Given the description of an element on the screen output the (x, y) to click on. 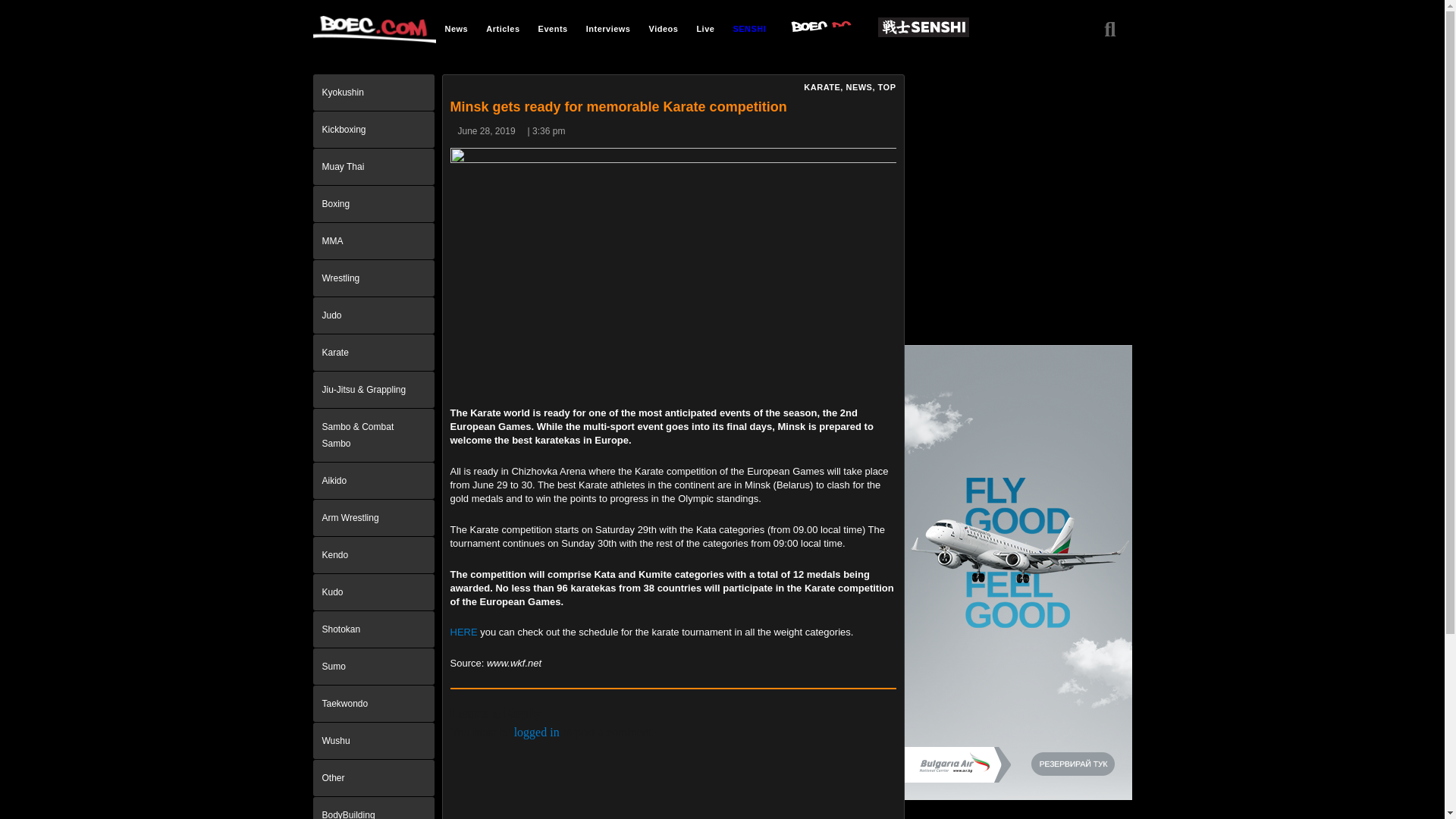
News (456, 28)
Interviews (608, 28)
SENSHI (748, 28)
Videos (663, 28)
Events (552, 28)
Articles (502, 28)
